Given the description of an element on the screen output the (x, y) to click on. 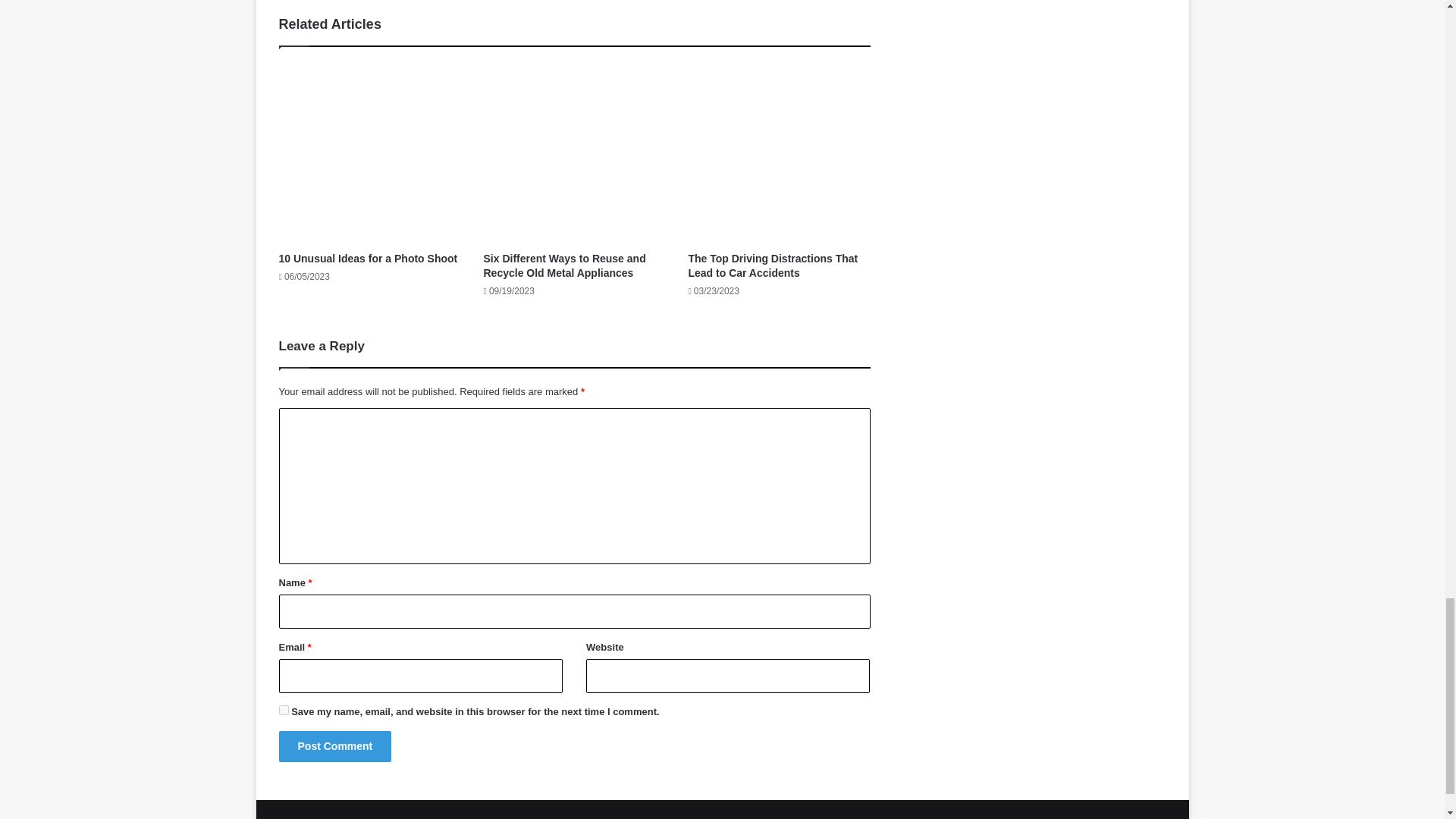
yes (283, 709)
Post Comment (335, 746)
